Given the description of an element on the screen output the (x, y) to click on. 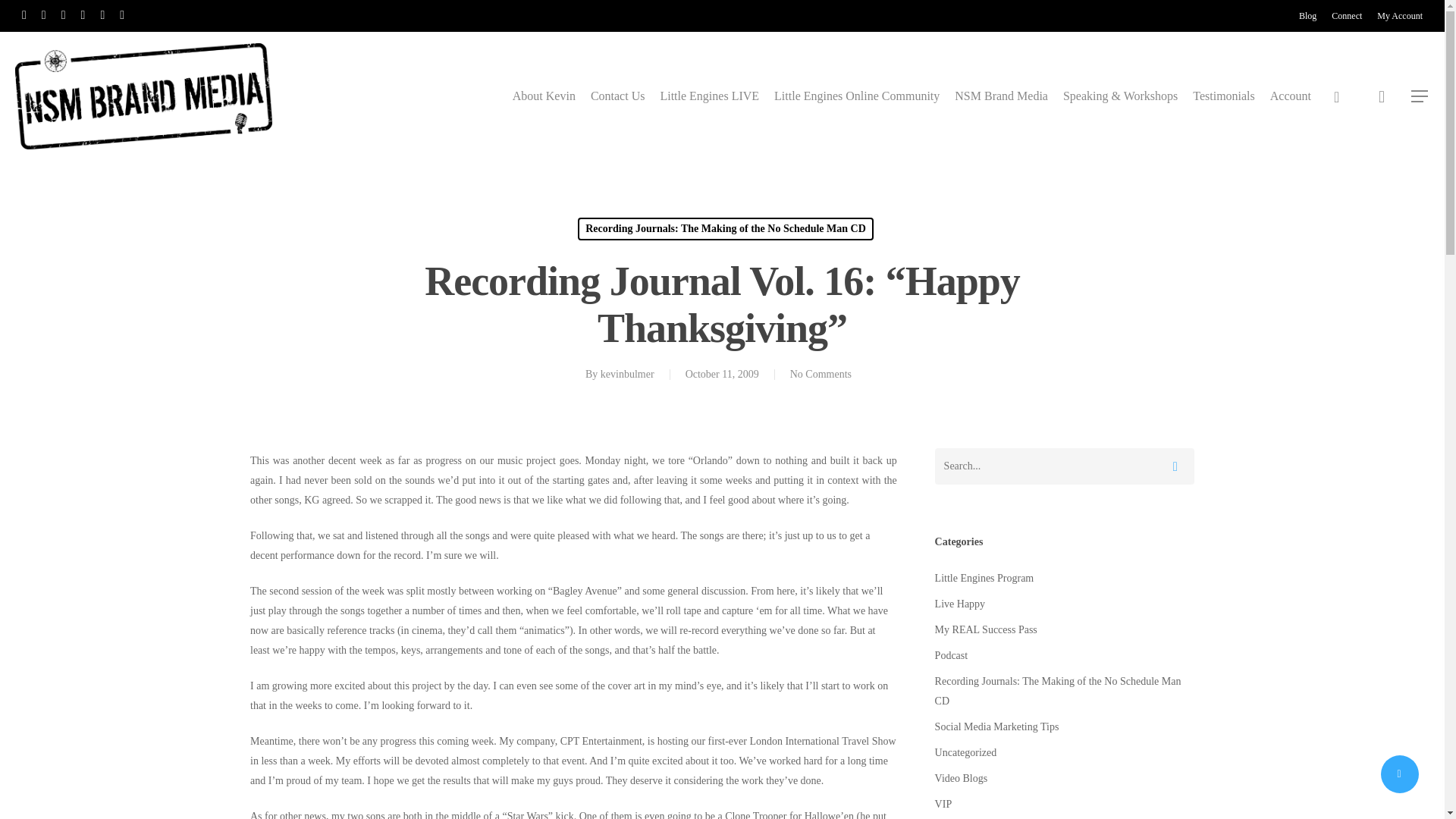
Search for: (1063, 465)
Little Engines Online Community (856, 96)
Little Engines LIVE (708, 96)
No Comments (820, 374)
Connect (1346, 15)
NSM Brand Media (1001, 96)
Recording Journals: The Making of the No Schedule Man CD (725, 228)
Podcast (1063, 655)
kevinbulmer (626, 374)
Live Happy (1063, 604)
Testimonials (1223, 96)
Blog (1307, 15)
Little Engines Program (1063, 578)
My Account (1399, 15)
Contact Us (618, 96)
